Given the description of an element on the screen output the (x, y) to click on. 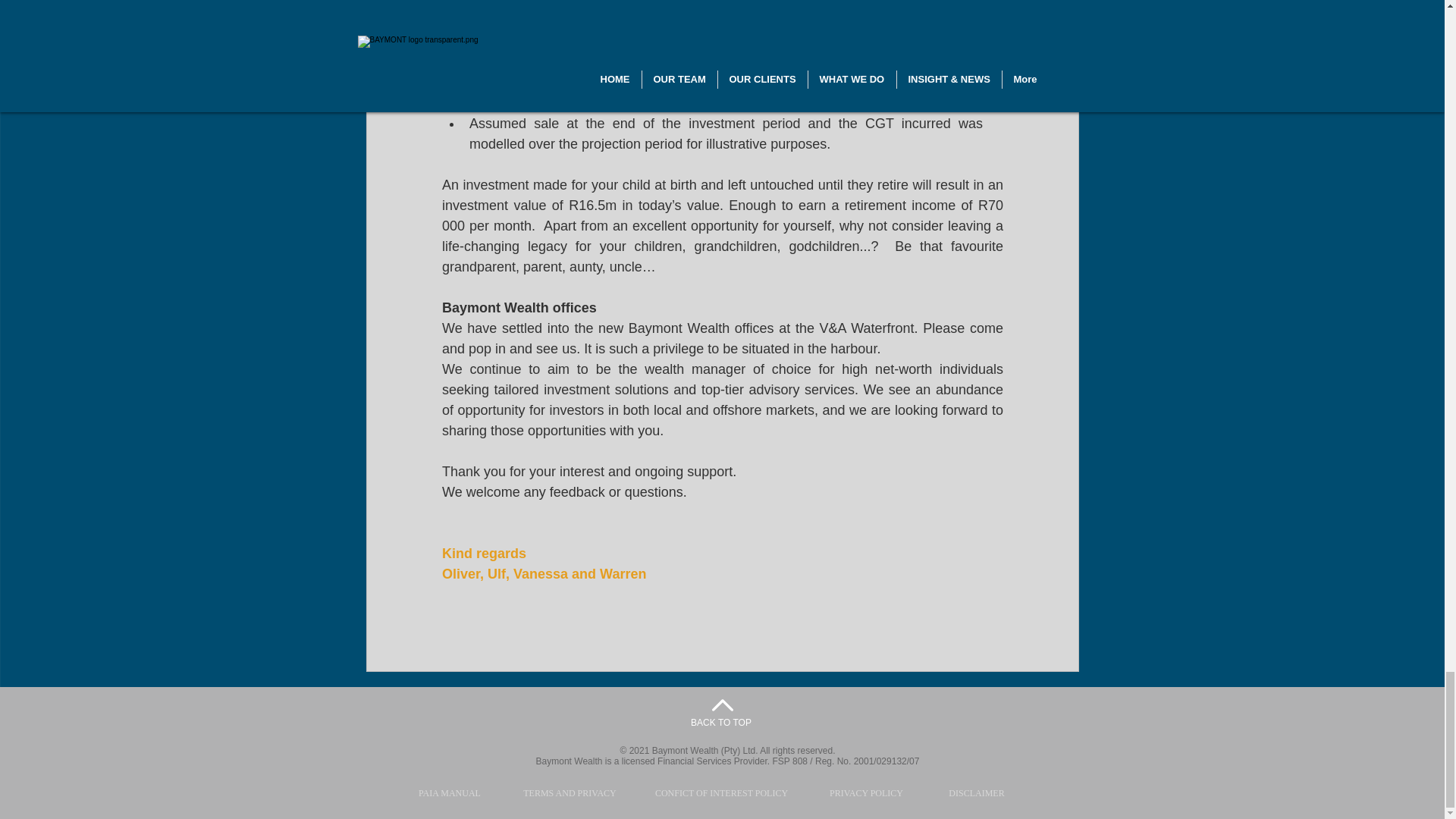
PRIVACY POLICY (866, 793)
CONFICT OF INTEREST POLICY (721, 793)
DISCLAIMER (976, 793)
TERMS AND PRIVACY (570, 793)
BACK TO TOP (720, 722)
PAIA MANUAL (448, 793)
